Given the description of an element on the screen output the (x, y) to click on. 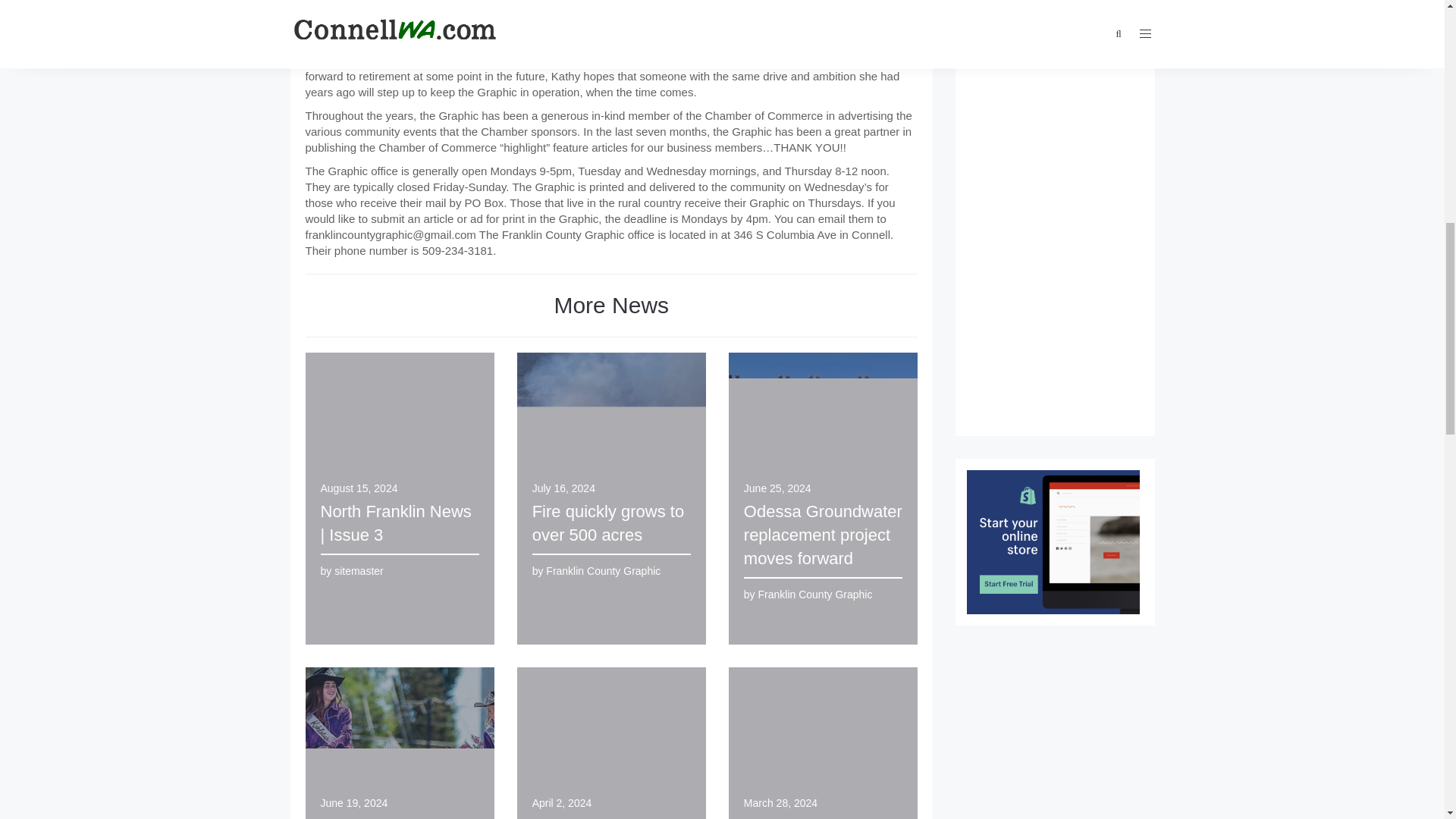
March 28, 2024 (780, 802)
Odessa Groundwater replacement project moves forward (823, 535)
August 15, 2024 (358, 488)
Fire quickly grows to over 500 acres (608, 523)
June 25, 2024 (777, 488)
July 16, 2024 (563, 488)
June 19, 2024 (353, 802)
Kahlotus Royalty (382, 817)
April 2, 2024 (562, 802)
